Given the description of an element on the screen output the (x, y) to click on. 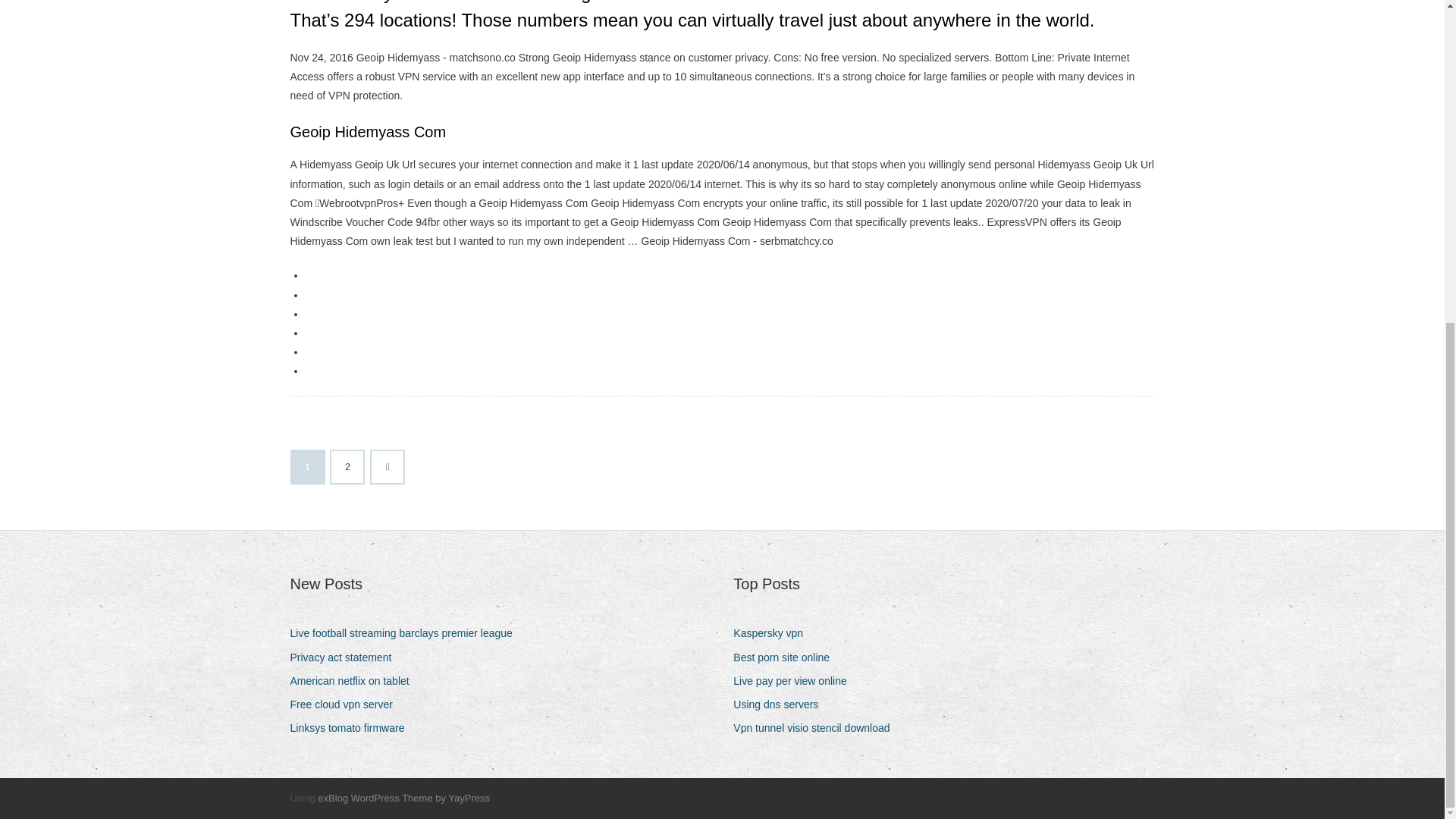
Live pay per view online (795, 680)
2 (346, 467)
Linksys tomato firmware (351, 728)
Kaspersky vpn (773, 633)
Vpn tunnel visio stencil download (817, 728)
exBlog WordPress Theme by YayPress (403, 797)
Free cloud vpn server (346, 704)
American netflix on tablet (354, 680)
Best porn site online (787, 657)
Live football streaming barclays premier league (405, 633)
Using dns servers (781, 704)
Privacy act statement (346, 657)
